Given the description of an element on the screen output the (x, y) to click on. 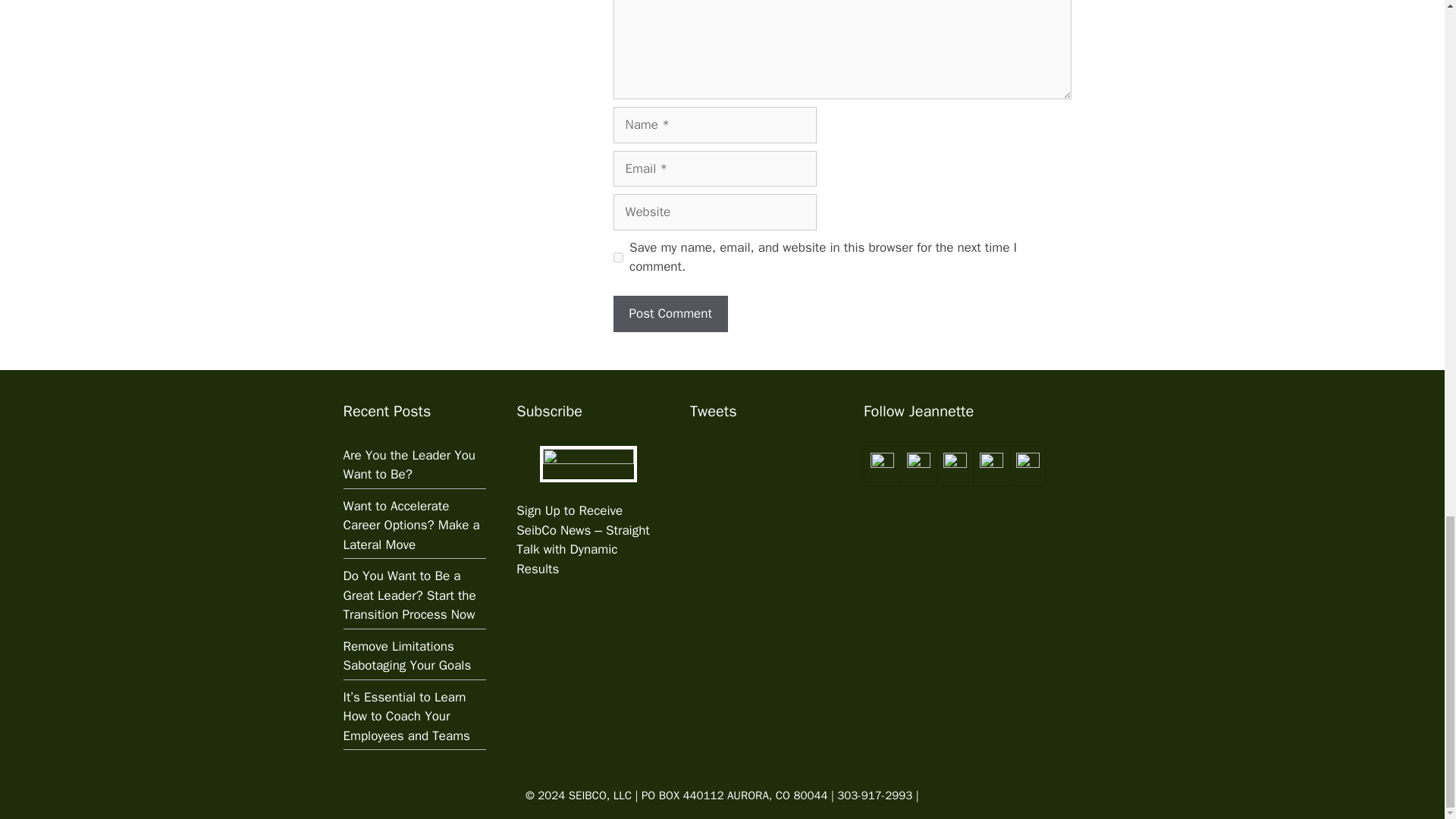
Scroll back to top (1406, 120)
Post Comment (669, 313)
yes (617, 257)
